Given the description of an element on the screen output the (x, y) to click on. 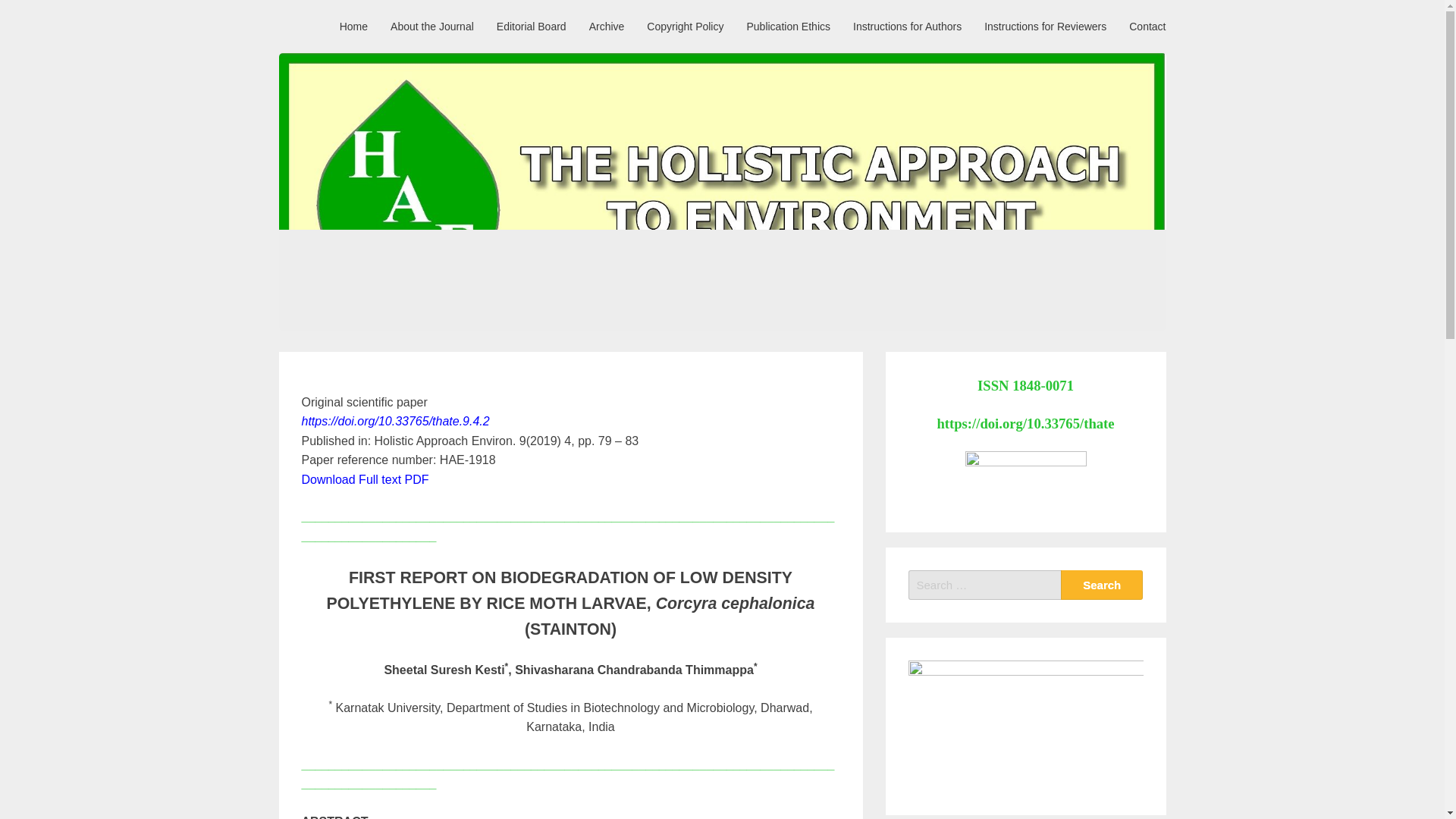
Search (1101, 584)
Editorial Board (531, 26)
Contact (1147, 26)
Download Full text PDF (365, 479)
Instructions for Reviewers (1045, 26)
Instructions for Authors (906, 26)
About the Journal (431, 26)
Search (1101, 584)
Publication Ethics (788, 26)
Home (353, 26)
